Given the description of an element on the screen output the (x, y) to click on. 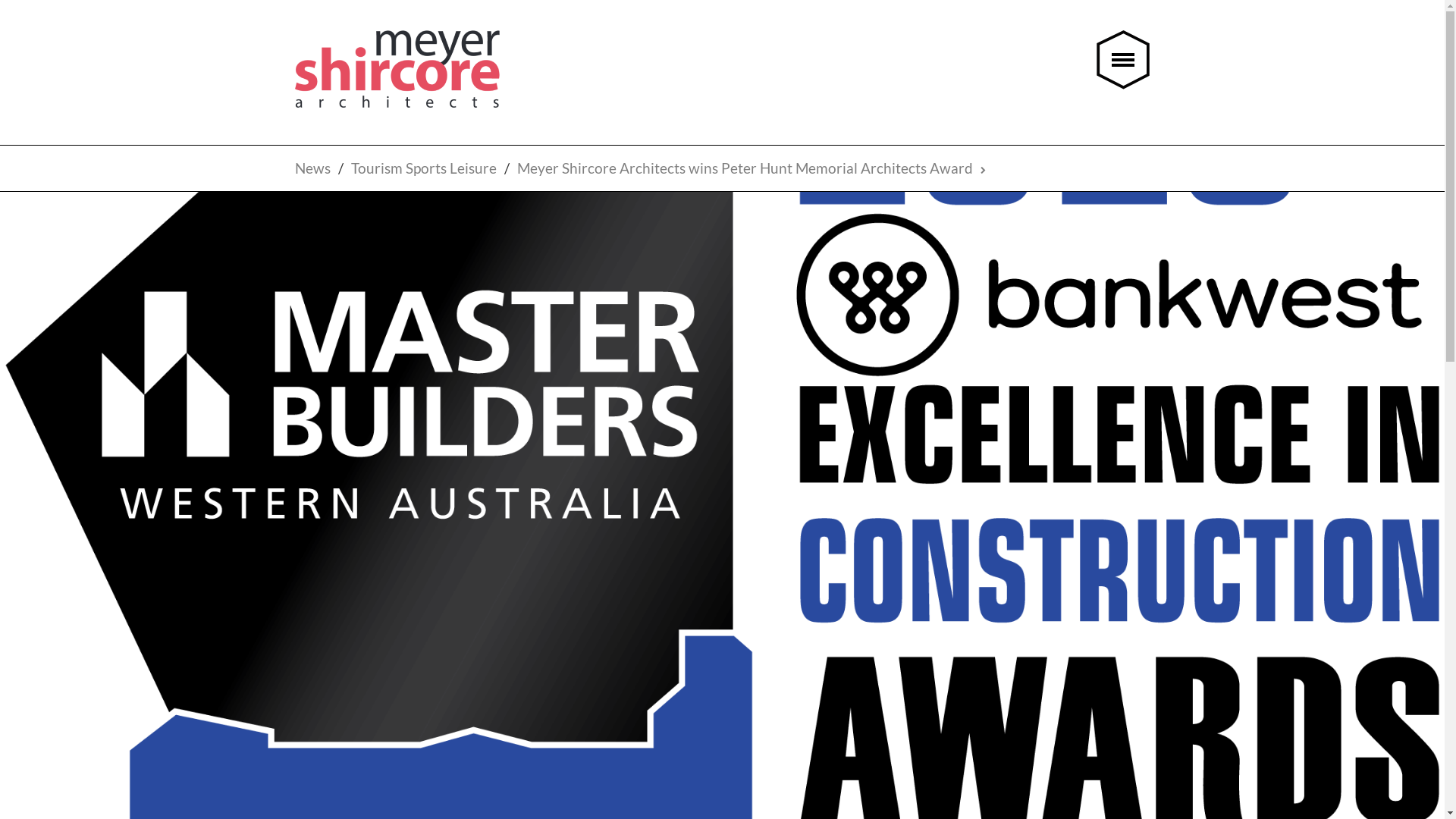
News Element type: text (312, 167)
Tourism Sports Leisure Element type: text (423, 167)
